Given the description of an element on the screen output the (x, y) to click on. 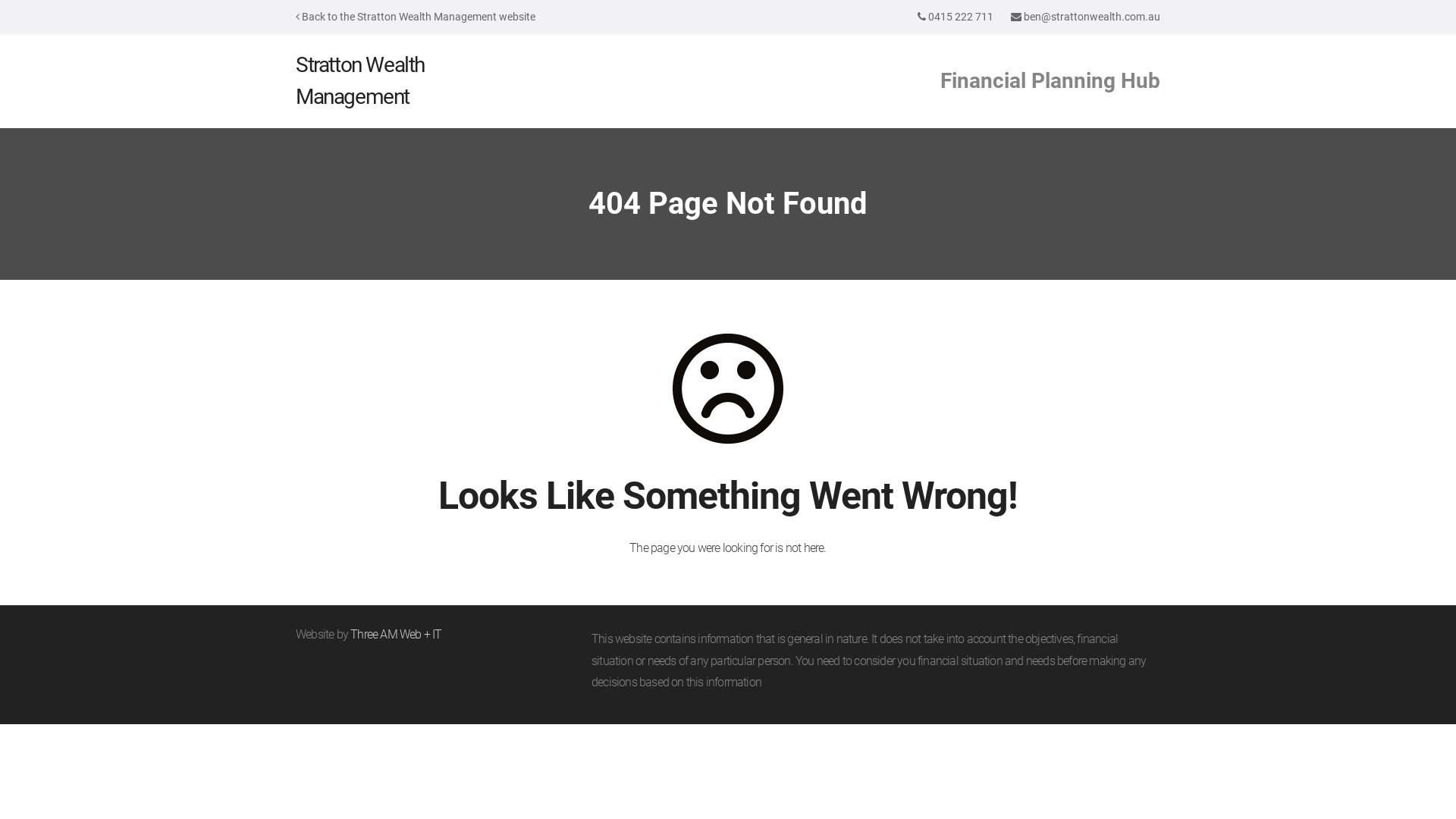
Three AM Web + IT Element type: text (395, 634)
ben@strattonwealth.com.au Element type: text (1091, 16)
Back to the Stratton Wealth Management website Element type: text (415, 16)
0415 222 711 Element type: text (960, 16)
Stratton Wealth Management Element type: text (359, 80)
